Given the description of an element on the screen output the (x, y) to click on. 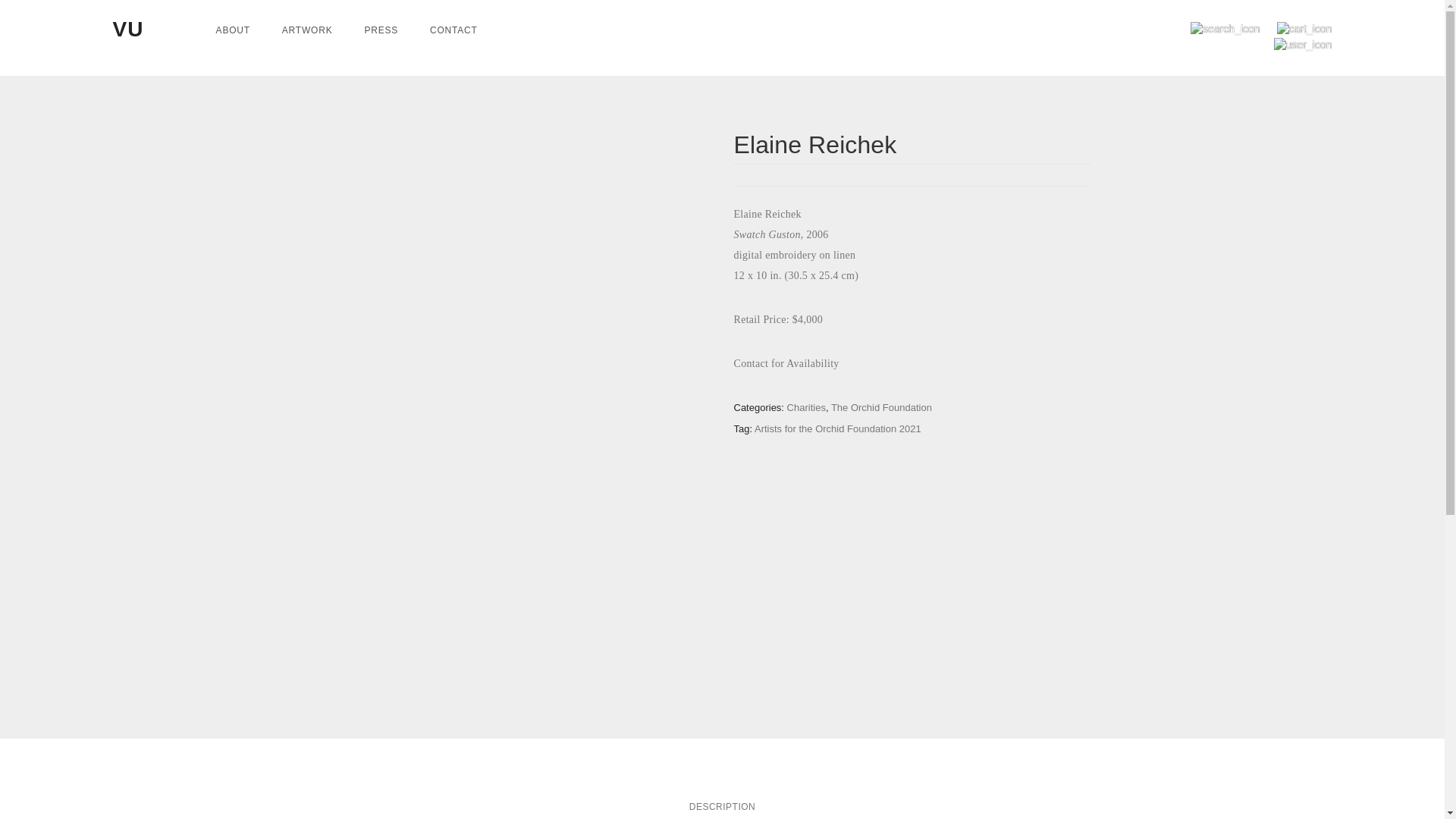
ARTWORK (307, 30)
CONTACT (453, 30)
VU (128, 28)
DESCRIPTION (721, 807)
Charities (806, 407)
PRESS (380, 30)
The Orchid Foundation (881, 407)
Artists for the Orchid Foundation 2021 (837, 428)
ABOUT (232, 30)
